Given the description of an element on the screen output the (x, y) to click on. 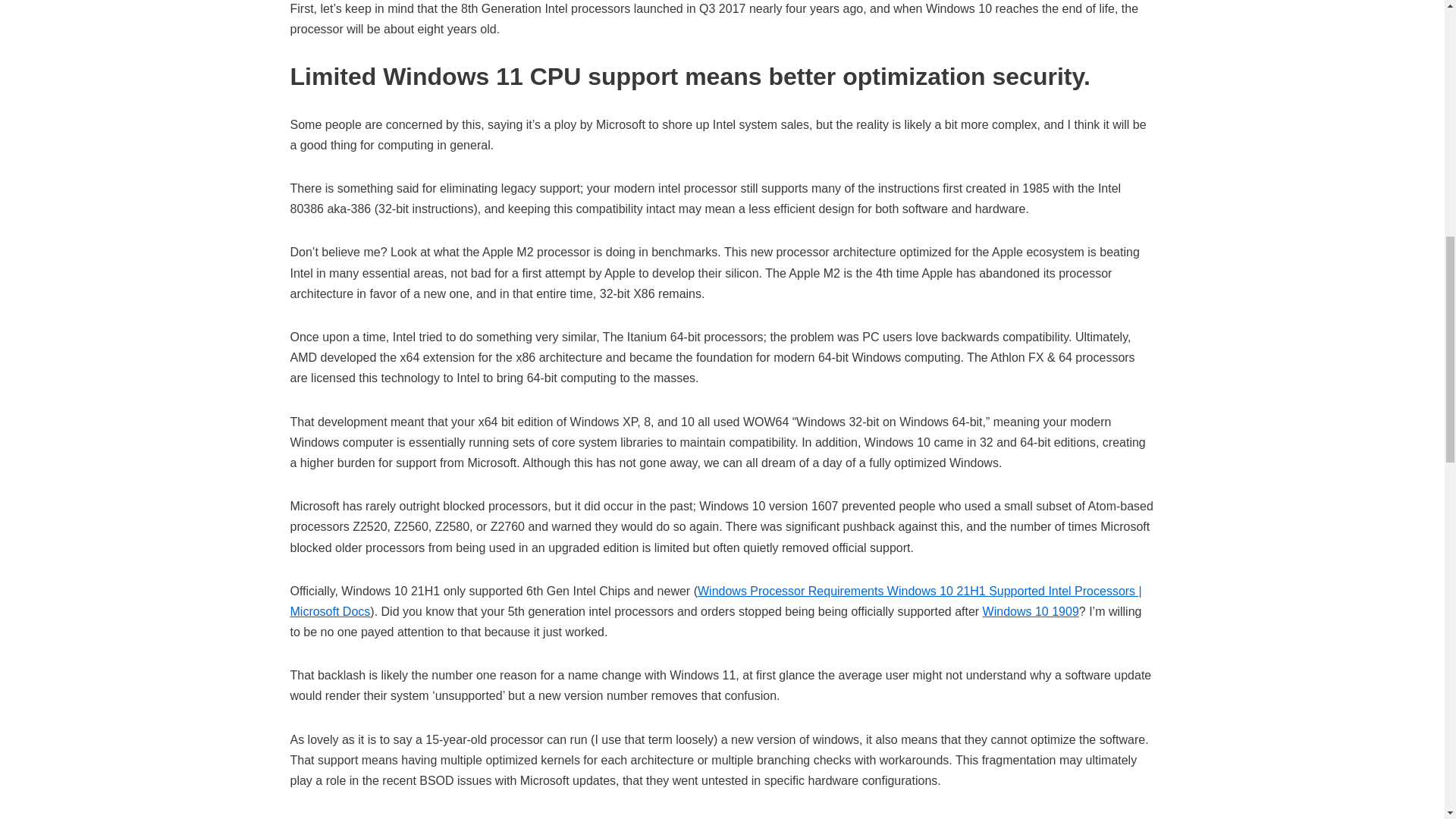
Windows 10 1909 (1030, 611)
